Given the description of an element on the screen output the (x, y) to click on. 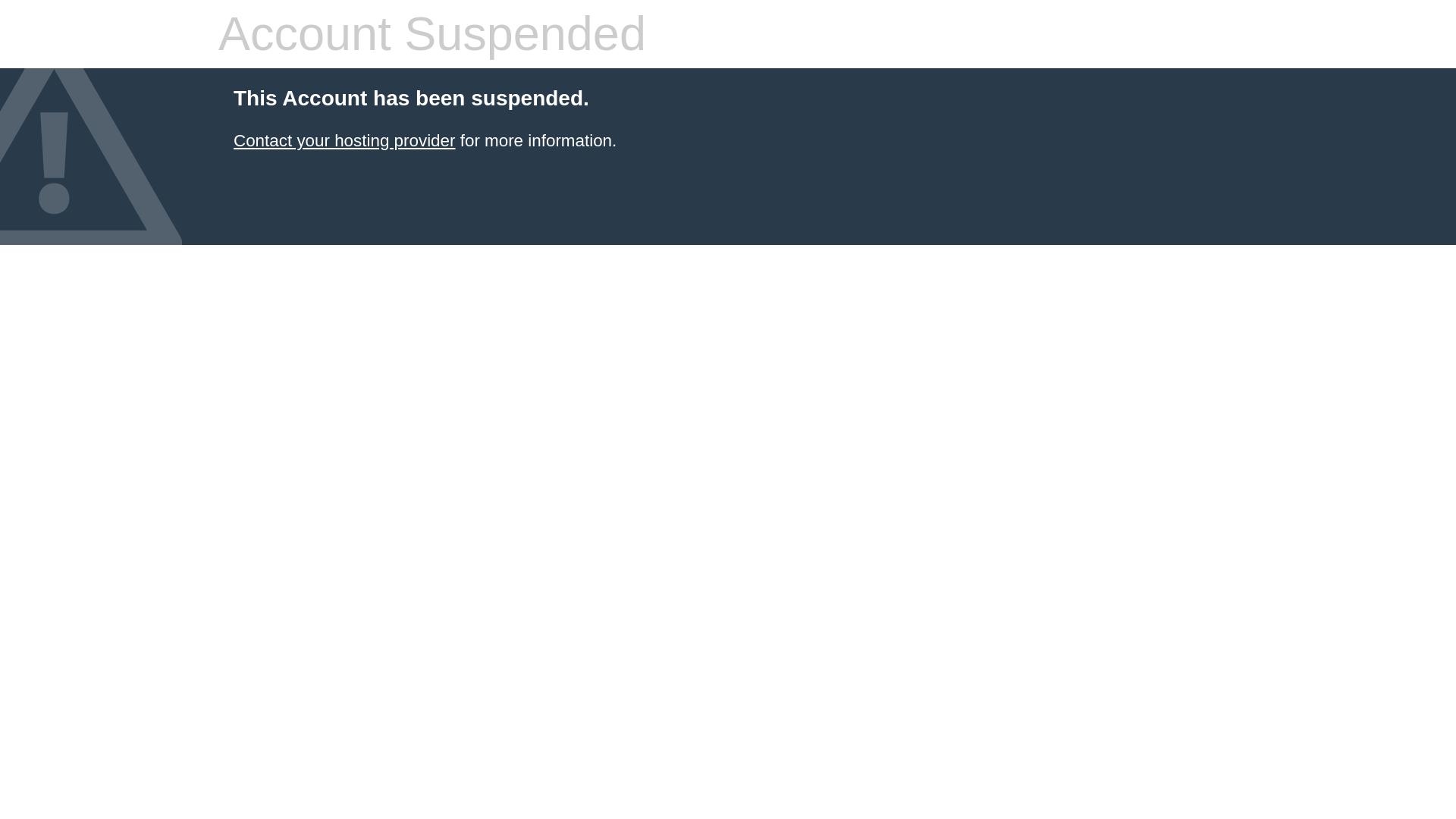
Contact your hosting provider (343, 140)
